Given the description of an element on the screen output the (x, y) to click on. 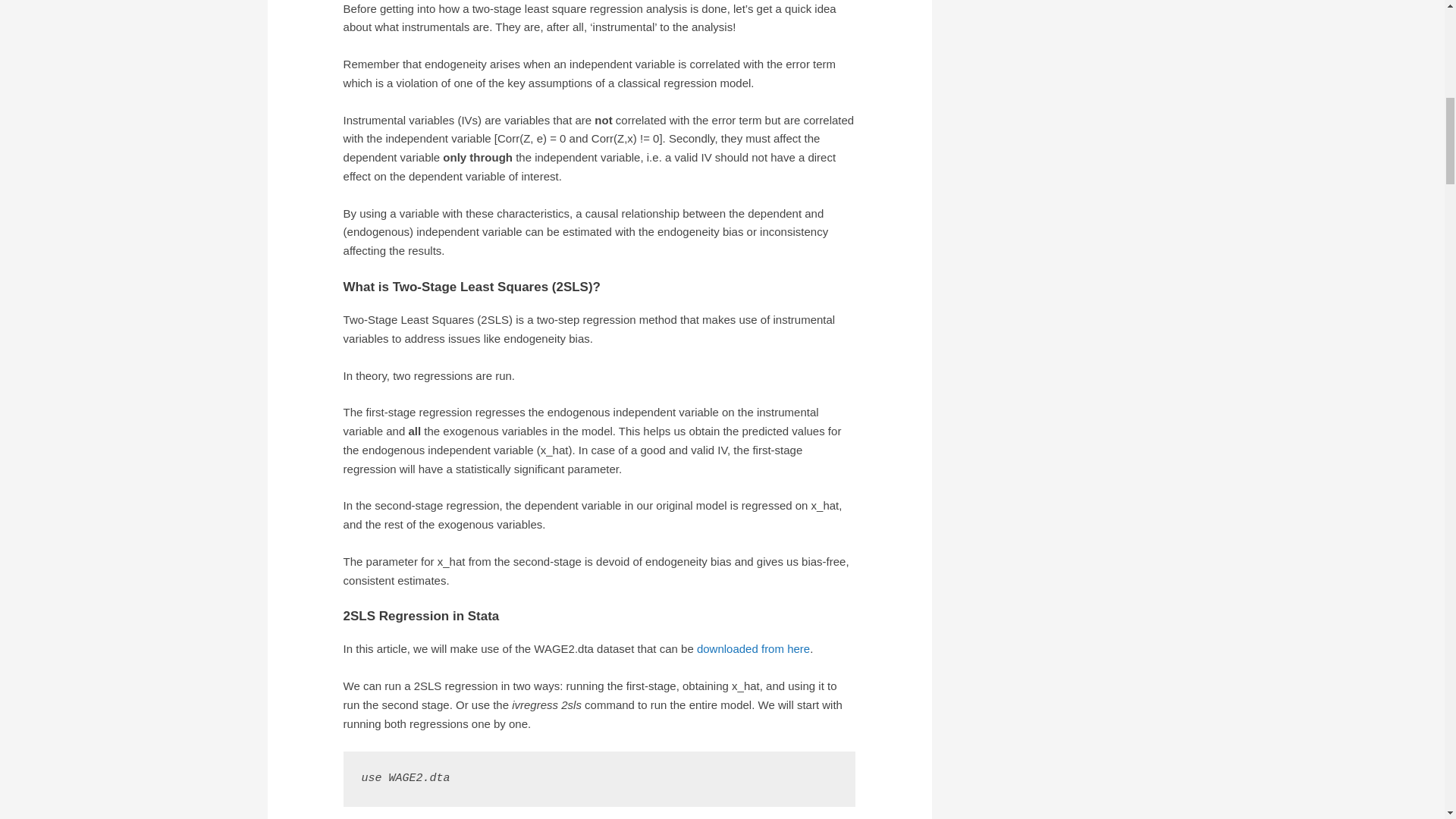
downloaded from here (753, 648)
